Given the description of an element on the screen output the (x, y) to click on. 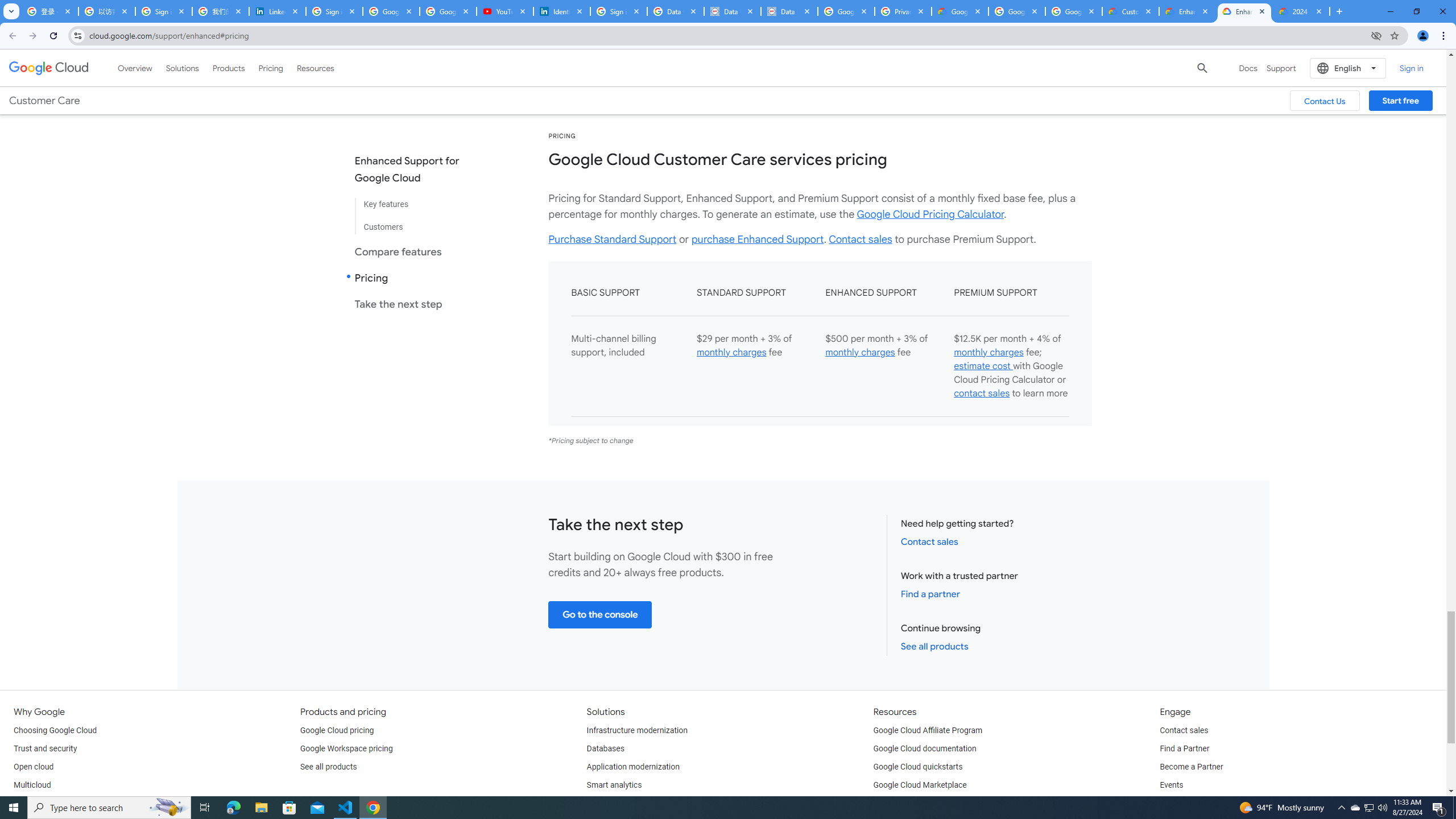
Learn about cloud computing (924, 802)
Google Cloud Pricing Calculator (930, 213)
Open cloud (33, 766)
Events (1170, 784)
Google Workspace - Specific Terms (1015, 11)
Podcasts (1175, 802)
Trust and security (45, 748)
Infrastructure modernization (637, 730)
Find a Partner (1183, 748)
Find a partner (929, 594)
Google Cloud documentation (924, 748)
Databases (605, 748)
